Given the description of an element on the screen output the (x, y) to click on. 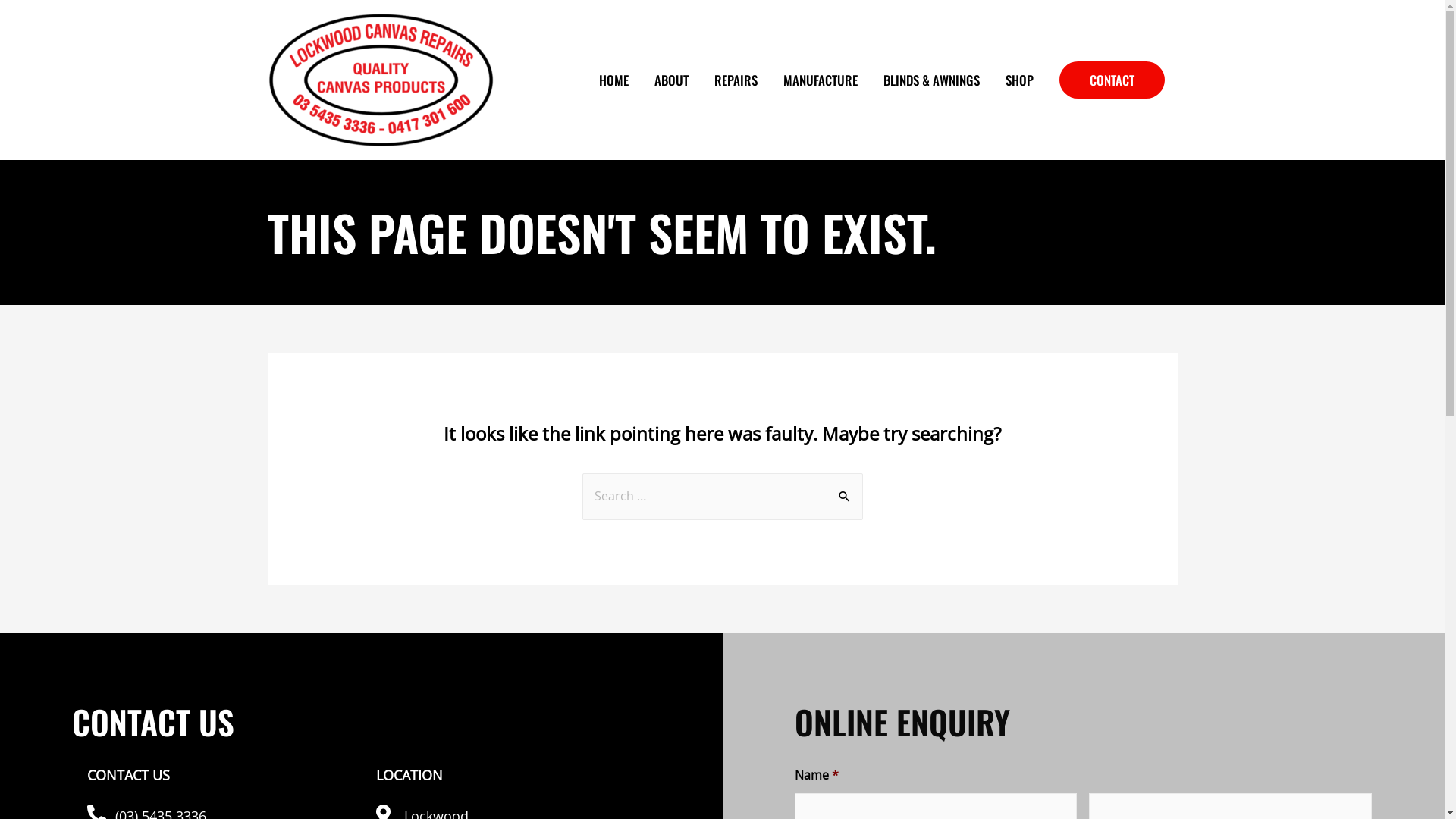
ABOUT Element type: text (671, 80)
Search Element type: text (845, 488)
BLINDS & AWNINGS Element type: text (931, 80)
REPAIRS Element type: text (734, 80)
HOME Element type: text (612, 80)
MANUFACTURE Element type: text (820, 80)
SHOP Element type: text (1018, 80)
CONTACT Element type: text (1111, 79)
